Given the description of an element on the screen output the (x, y) to click on. 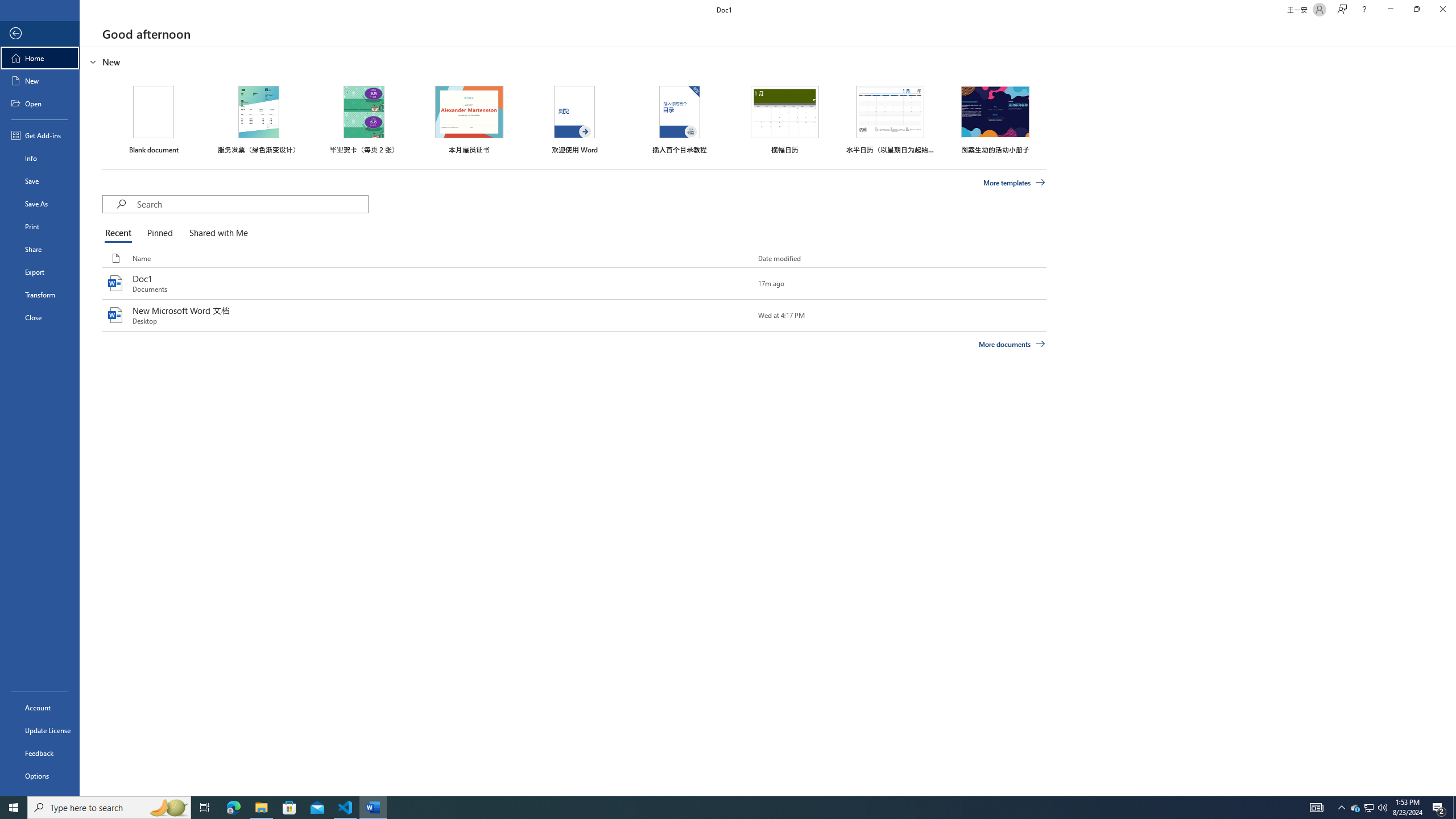
Restore Down (1416, 9)
Save (40, 180)
More templates (1014, 182)
Recent (119, 233)
Close (40, 317)
Options (40, 775)
System (6, 6)
Feedback (40, 753)
Get Add-ins (40, 134)
Save As (40, 203)
Pin this item to the list (739, 314)
Doc1 (573, 283)
